Given the description of an element on the screen output the (x, y) to click on. 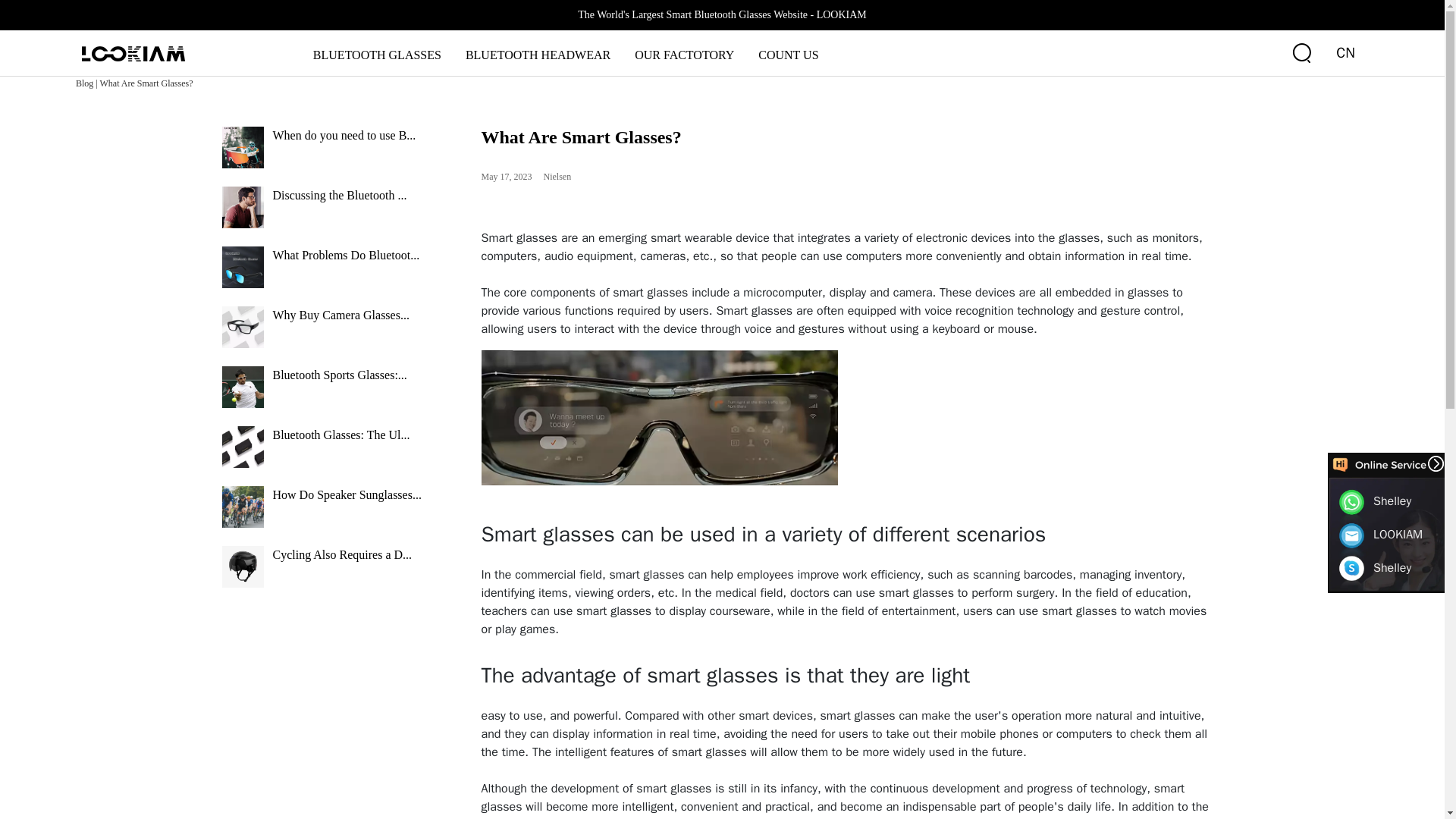
BLUETOOTH HEADWEAR (537, 55)
BLUETOOTH GLASSES (376, 55)
COUNT US (787, 55)
OUR FACTOTORY (684, 55)
